Given the description of an element on the screen output the (x, y) to click on. 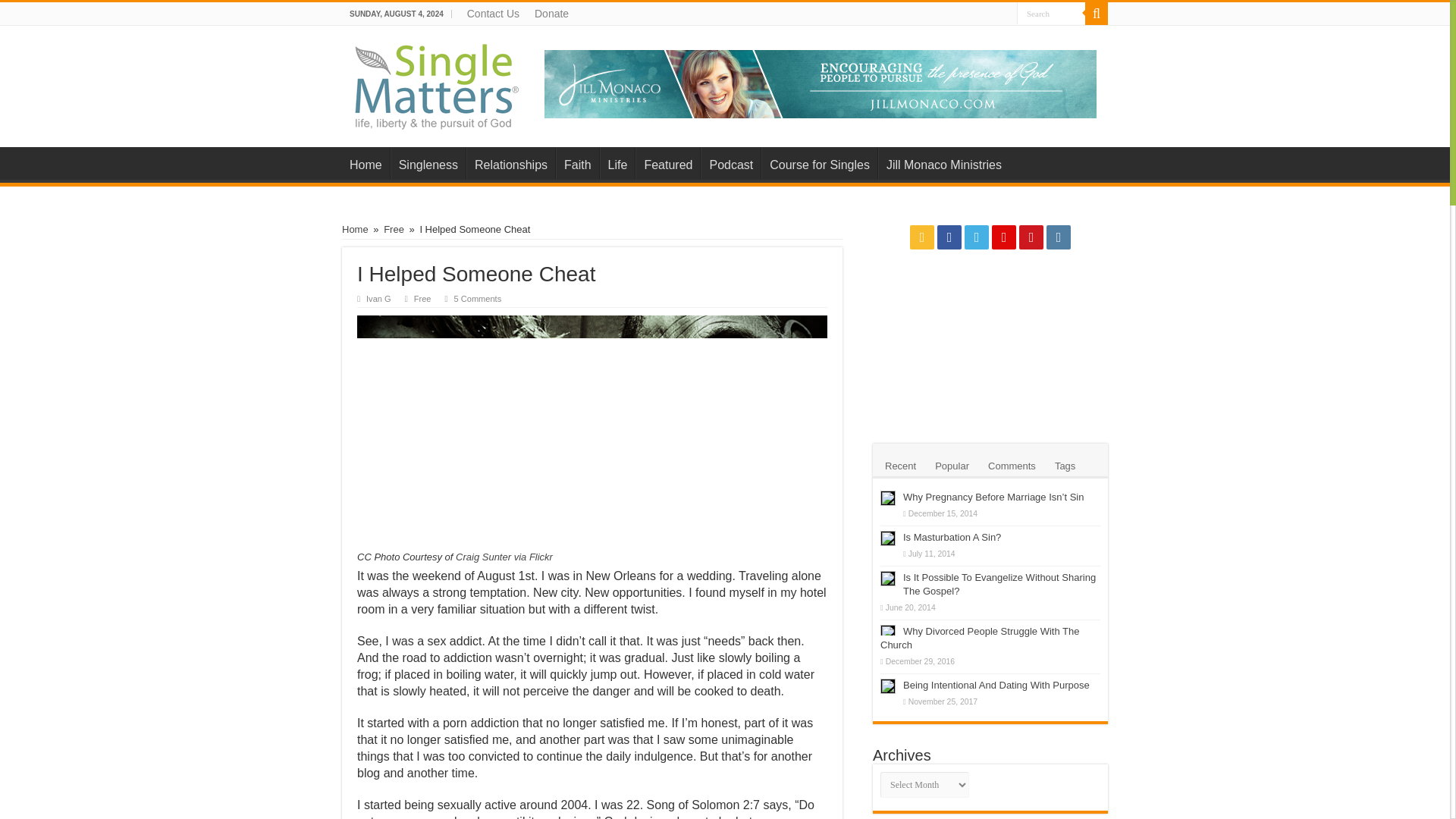
Featured (667, 163)
Craig Sunter via Flickr (504, 556)
Relationships (509, 163)
Search (1096, 13)
Single Matters Magazine with Jill Monaco Ministries (437, 83)
Jill Monaco Ministries (820, 82)
Home (355, 229)
Free (394, 229)
Home (366, 163)
Singleness (427, 163)
